Given the description of an element on the screen output the (x, y) to click on. 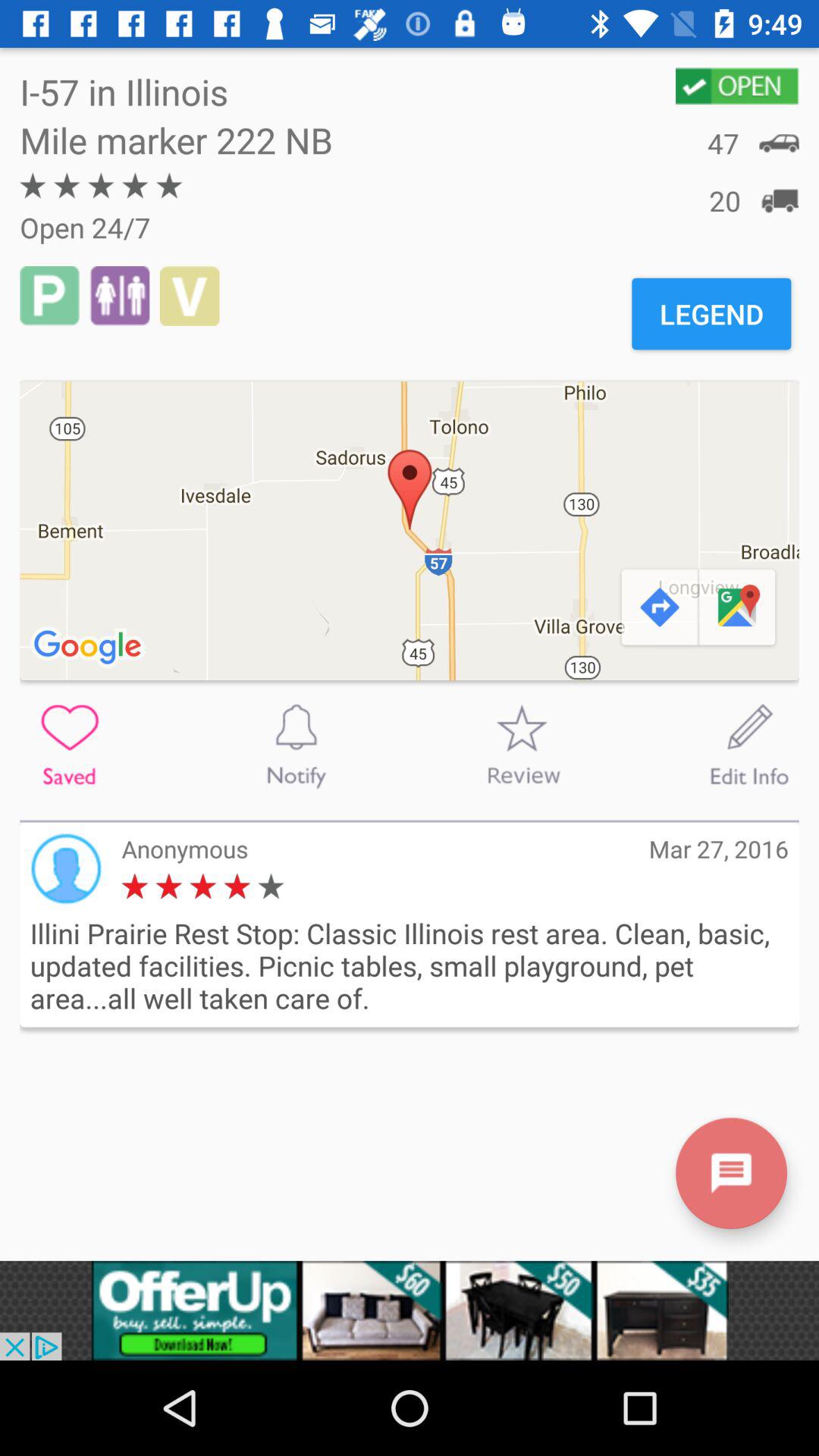
advertisement portion (409, 1310)
